Given the description of an element on the screen output the (x, y) to click on. 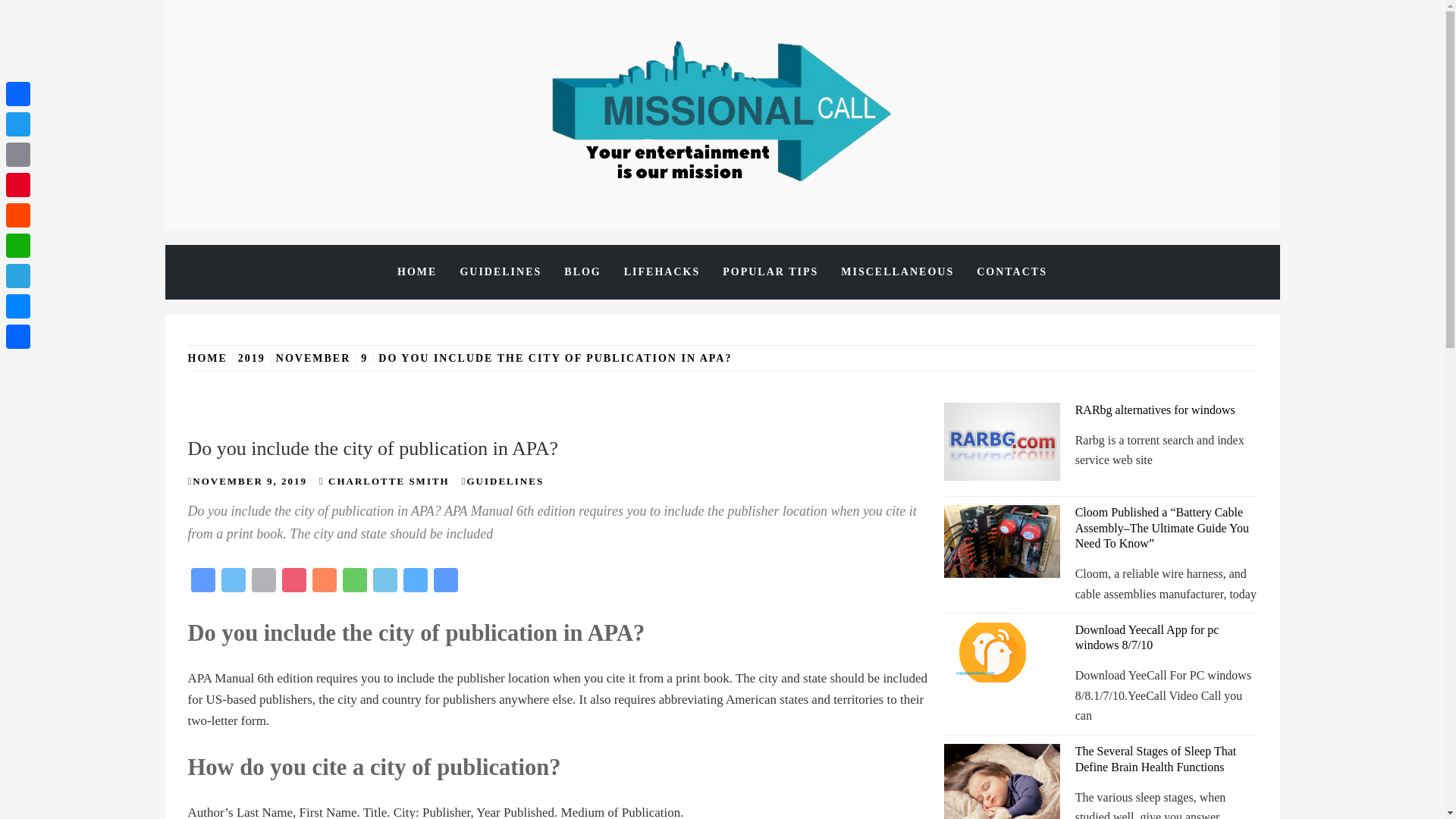
2019 (251, 357)
WhatsApp (354, 582)
NOVEMBER 9, 2019 (249, 480)
BLOG (582, 271)
WhatsApp (354, 582)
9 (363, 357)
Facebook (17, 93)
Pinterest (293, 582)
DO YOU INCLUDE THE CITY OF PUBLICATION IN APA? (554, 357)
CHARLOTTE SMITH (389, 480)
